Given the description of an element on the screen output the (x, y) to click on. 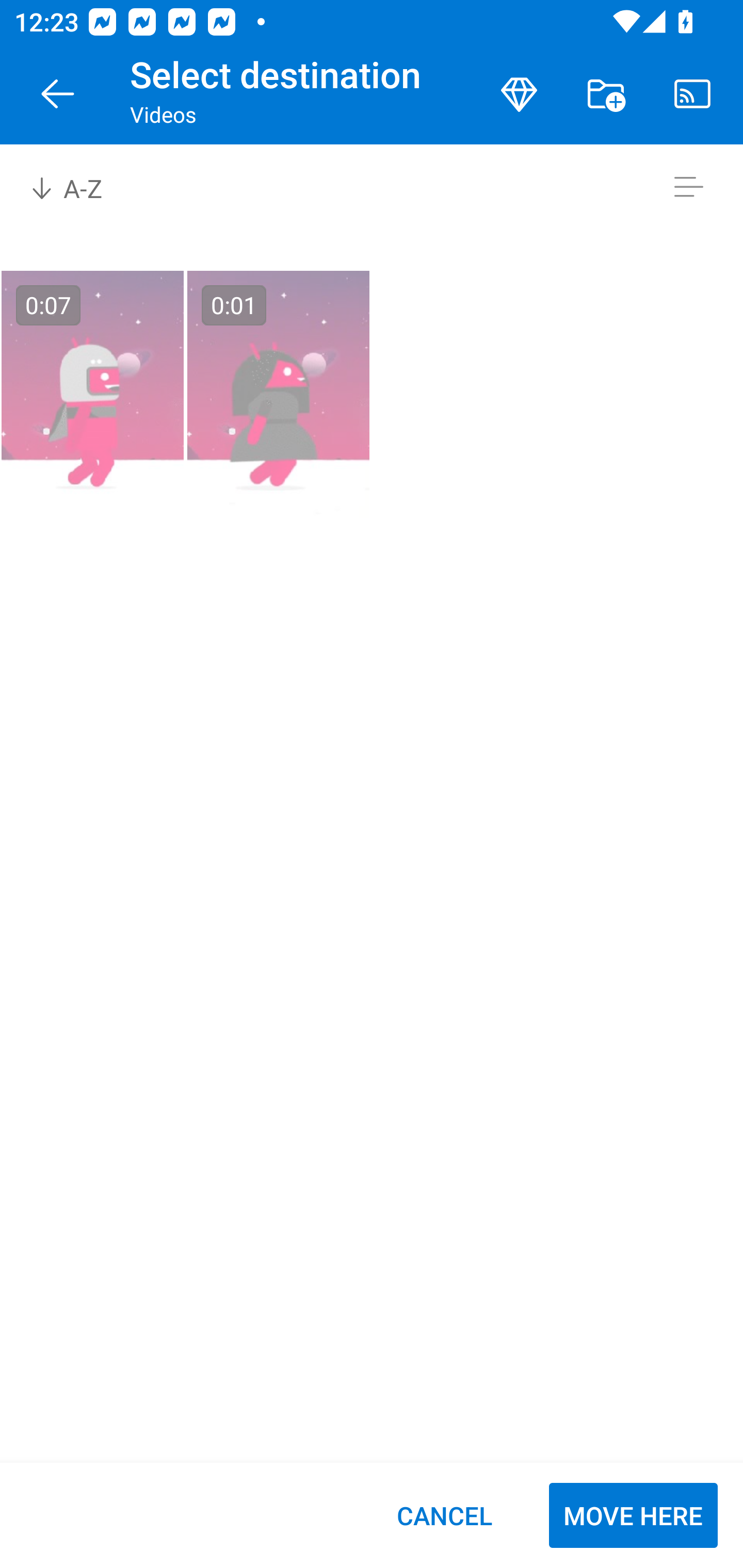
Navigate Up (57, 93)
Cast. Disconnected (692, 93)
Premium button (518, 93)
More actions button (605, 93)
A-Z Sort by combo box, sort by name, A to Z (80, 187)
Switch to list view (688, 187)
Document TestVideo 0:07 7 seconds (92, 395)
Document VID_20240428_121708 0:01 1 second (278, 395)
CANCEL (443, 1515)
MOVE HERE (633, 1515)
